Given the description of an element on the screen output the (x, y) to click on. 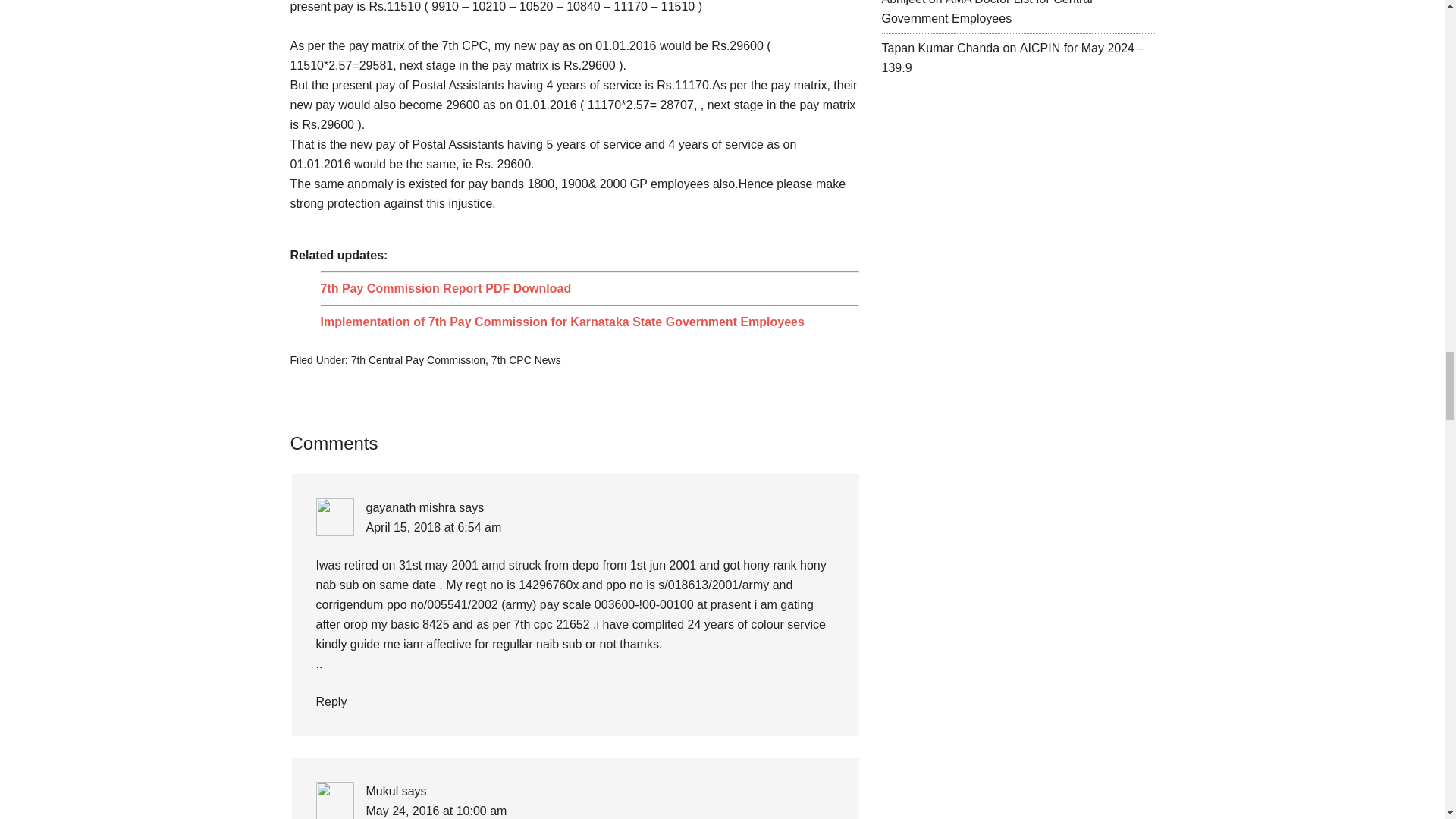
7th Central Pay Commission (417, 359)
Reply (330, 701)
7th CPC News (526, 359)
May 24, 2016 at 10:00 am (435, 810)
April 15, 2018 at 6:54 am (432, 526)
7th Pay Commission Report PDF Download (445, 287)
